Given the description of an element on the screen output the (x, y) to click on. 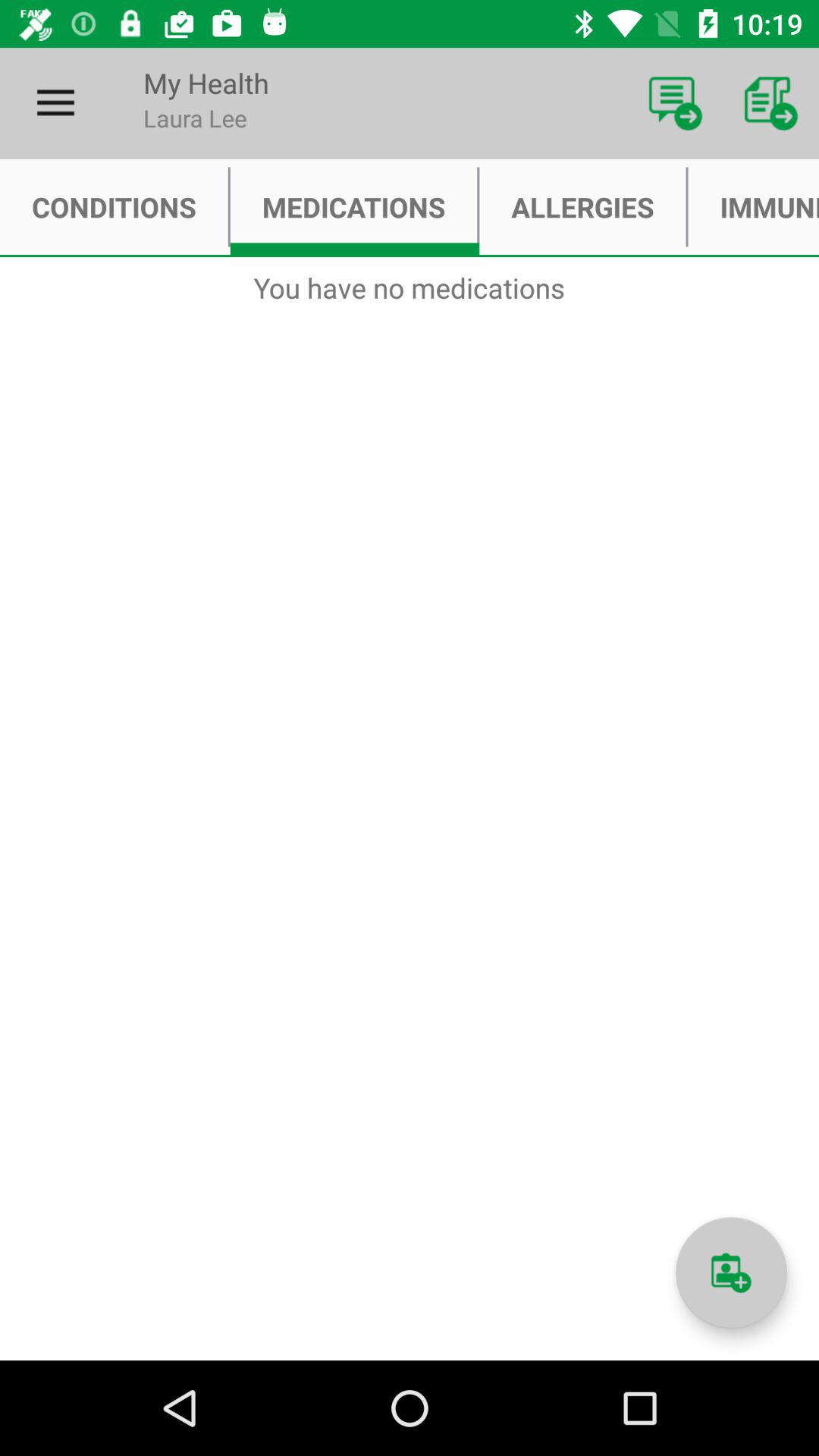
press icon to the right of the my health (675, 103)
